Given the description of an element on the screen output the (x, y) to click on. 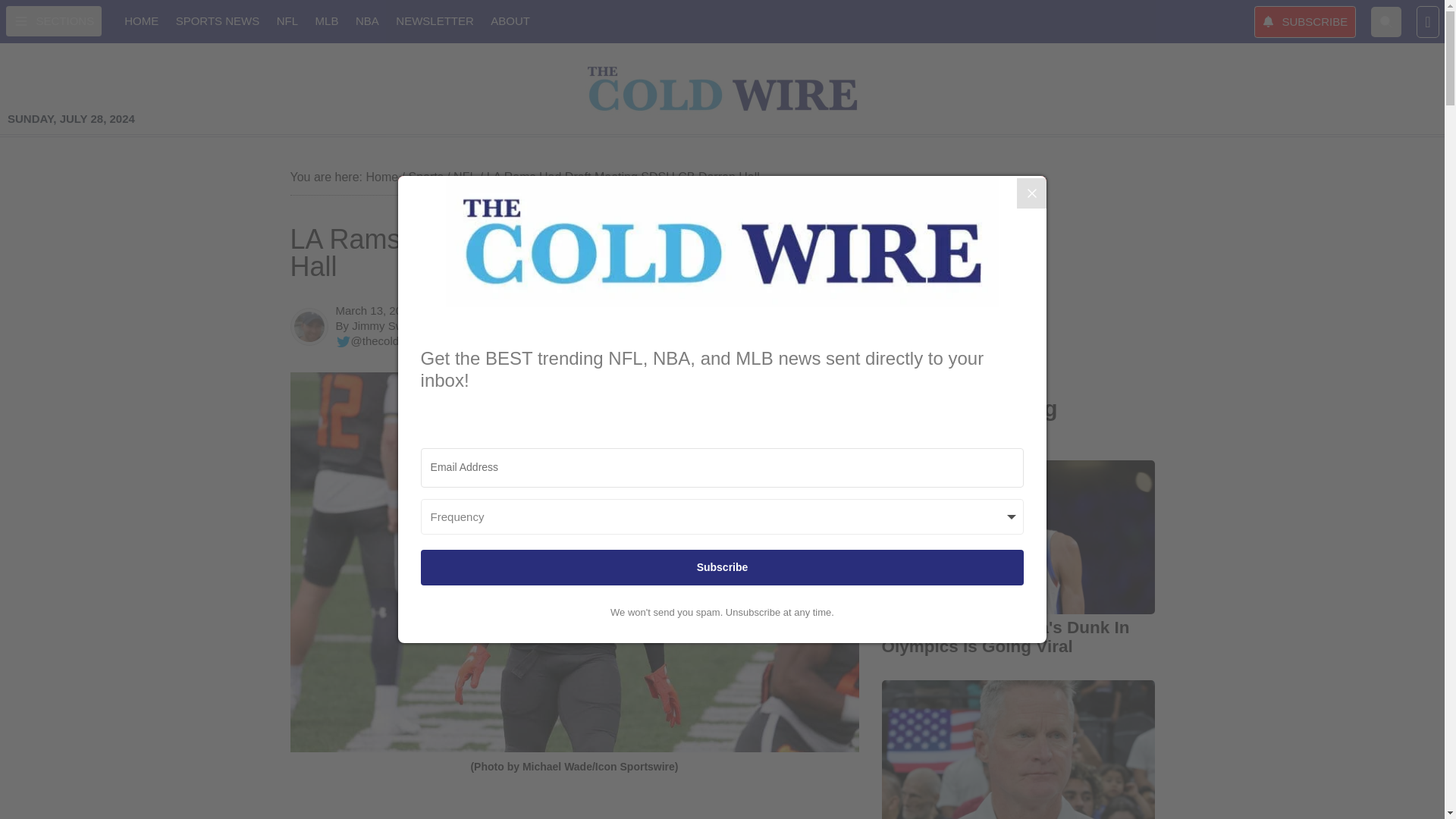
Search (1385, 20)
Open Menu (53, 20)
